Given the description of an element on the screen output the (x, y) to click on. 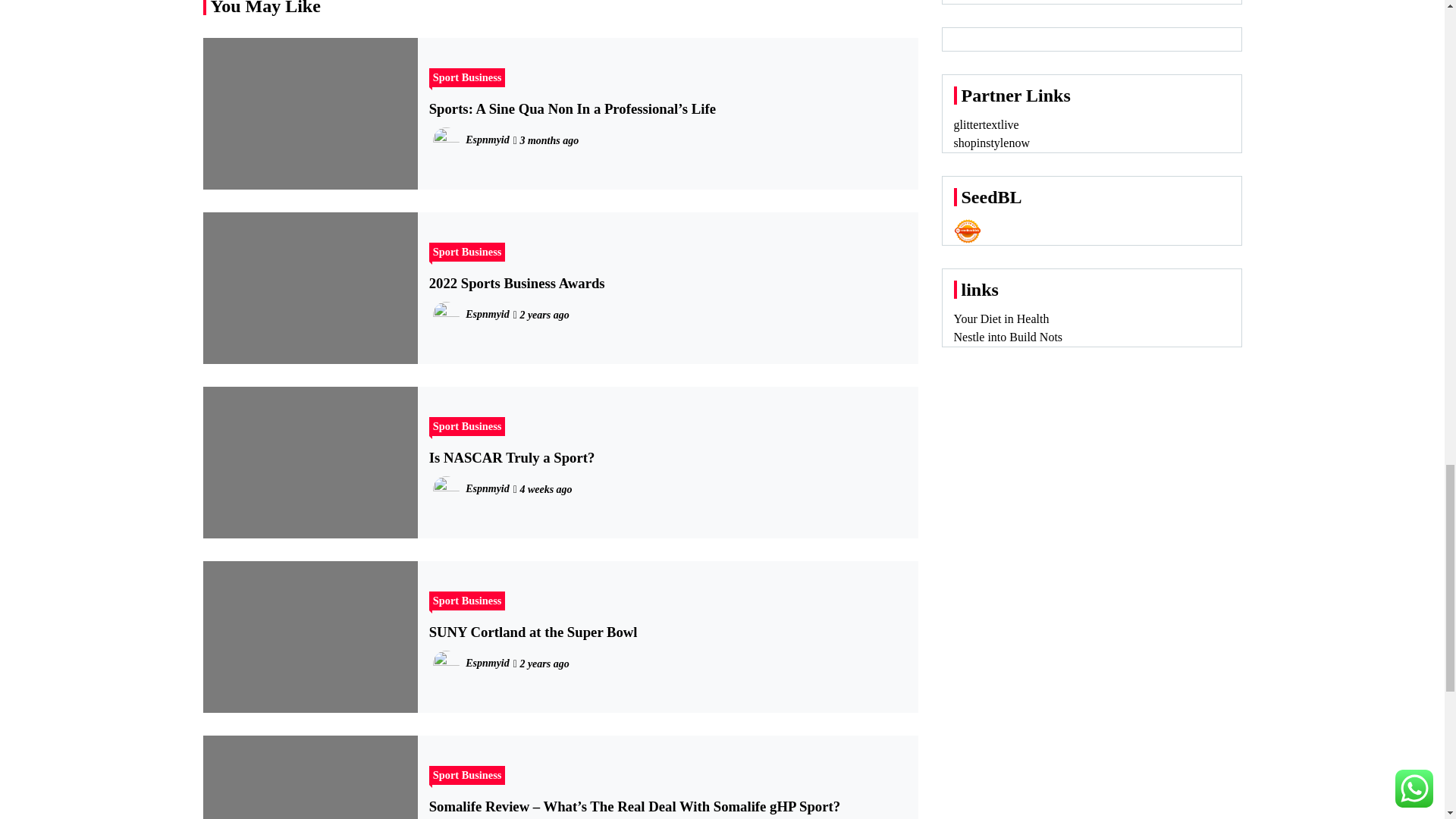
Seedbacklink (967, 230)
